Given the description of an element on the screen output the (x, y) to click on. 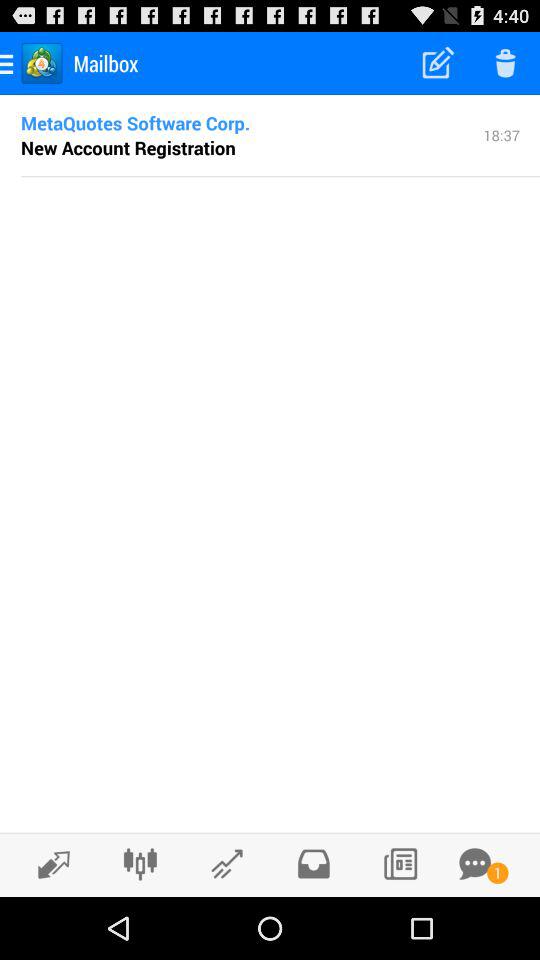
turn on the item to the right of metaquotes software corp. item (501, 134)
